Given the description of an element on the screen output the (x, y) to click on. 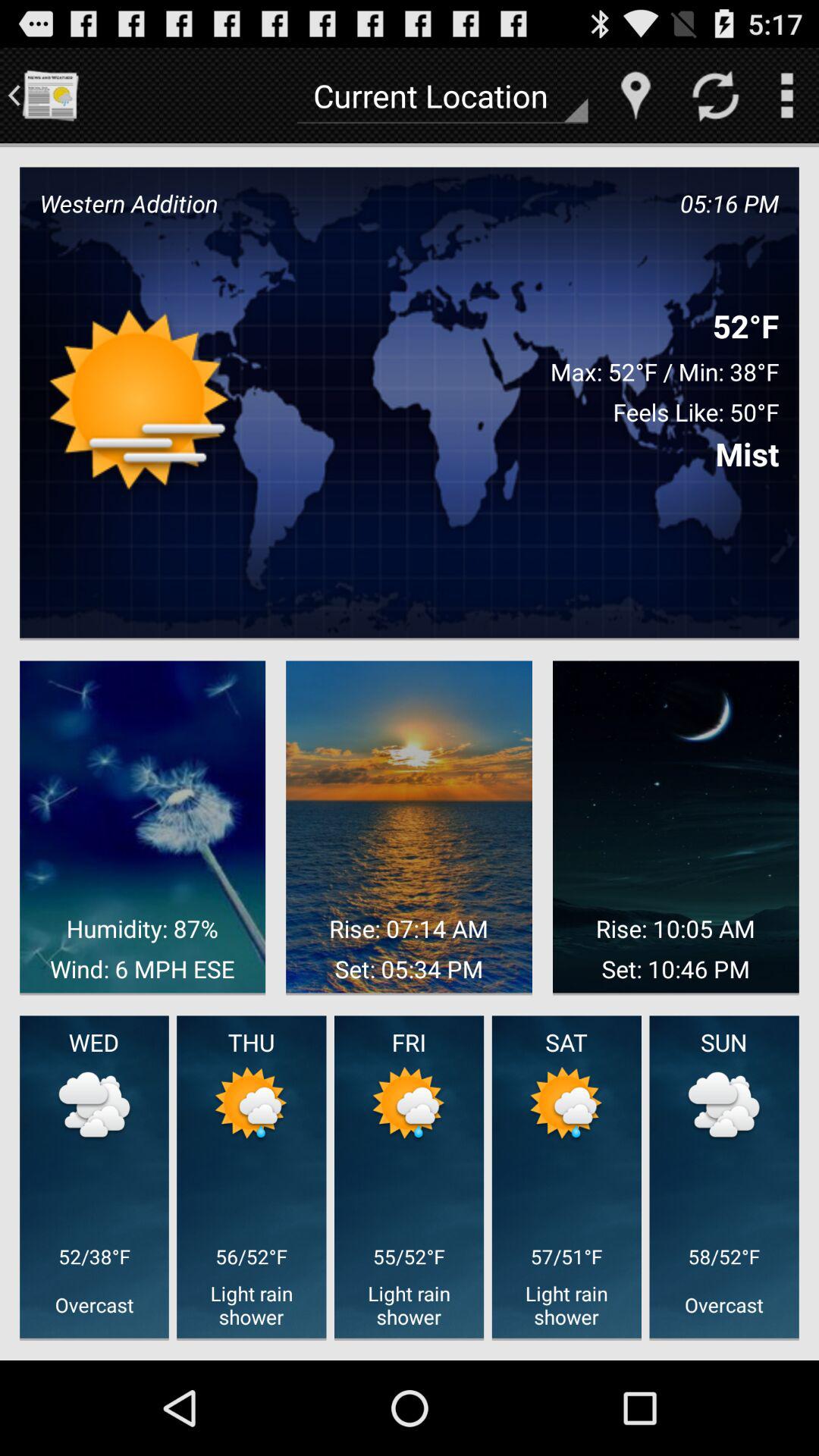
launch the item next to the current location app (635, 95)
